Given the description of an element on the screen output the (x, y) to click on. 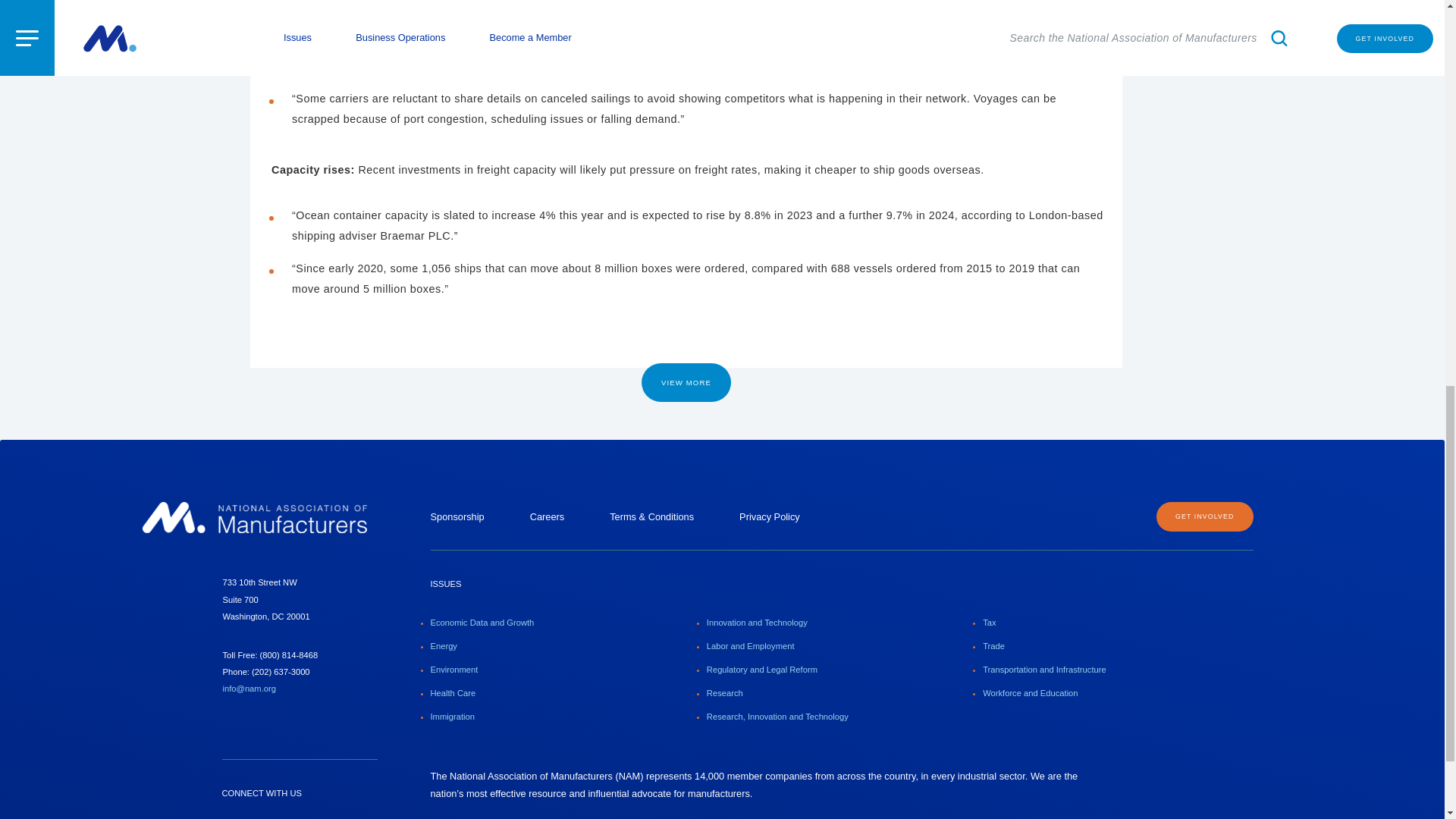
GET INVOLVED (1204, 516)
Privacy Policy (769, 516)
VIEW MORE (686, 382)
Sponsorship (457, 516)
Economic Data and Growth (482, 622)
Careers (546, 516)
